Given the description of an element on the screen output the (x, y) to click on. 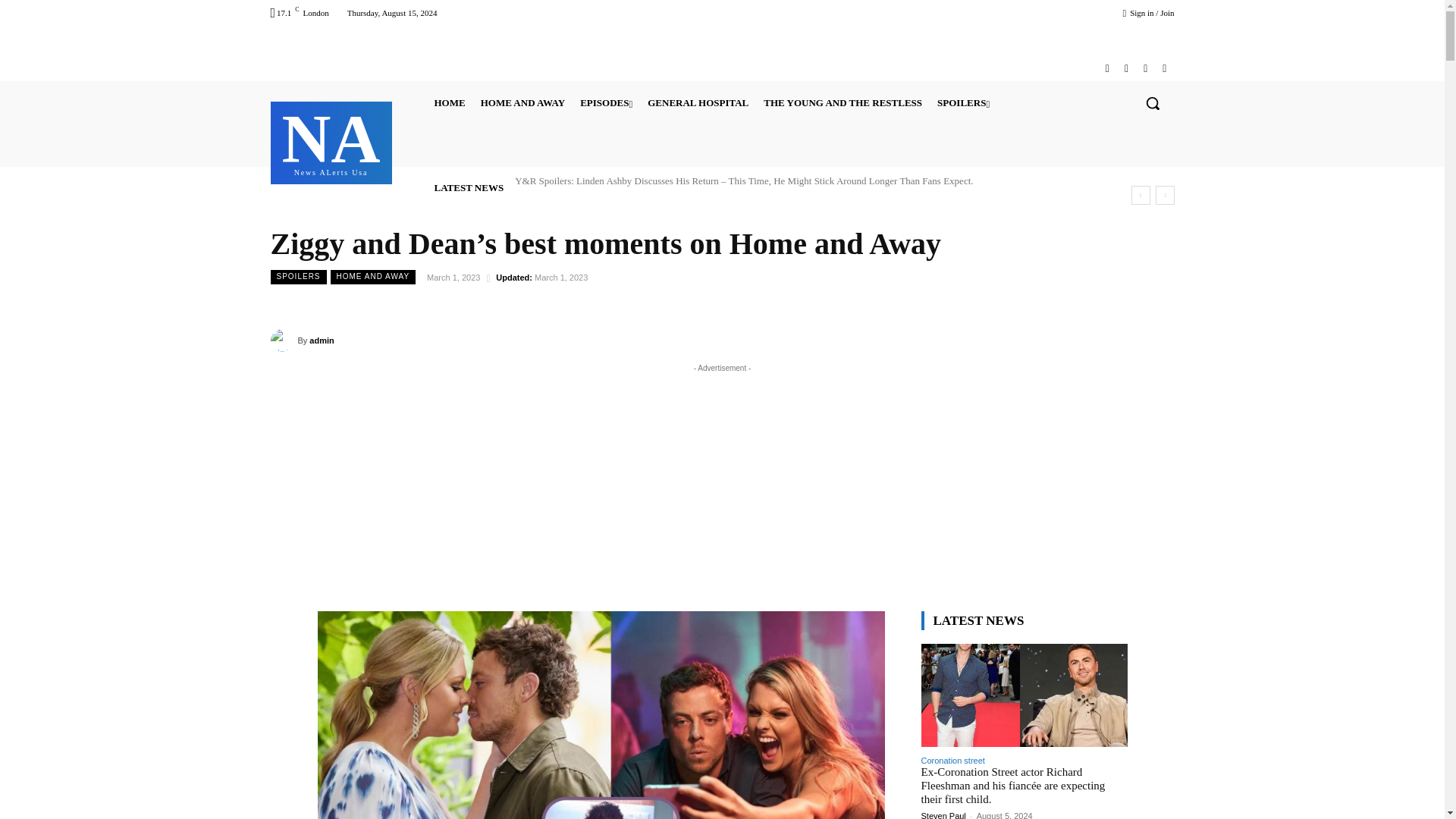
EPISODES (606, 102)
HOME (449, 102)
Facebook (331, 140)
THE YOUNG AND THE RESTLESS (1106, 67)
GENERAL HOSPITAL (842, 102)
HOME AND AWAY (698, 102)
SPOILERS (522, 102)
